Given the description of an element on the screen output the (x, y) to click on. 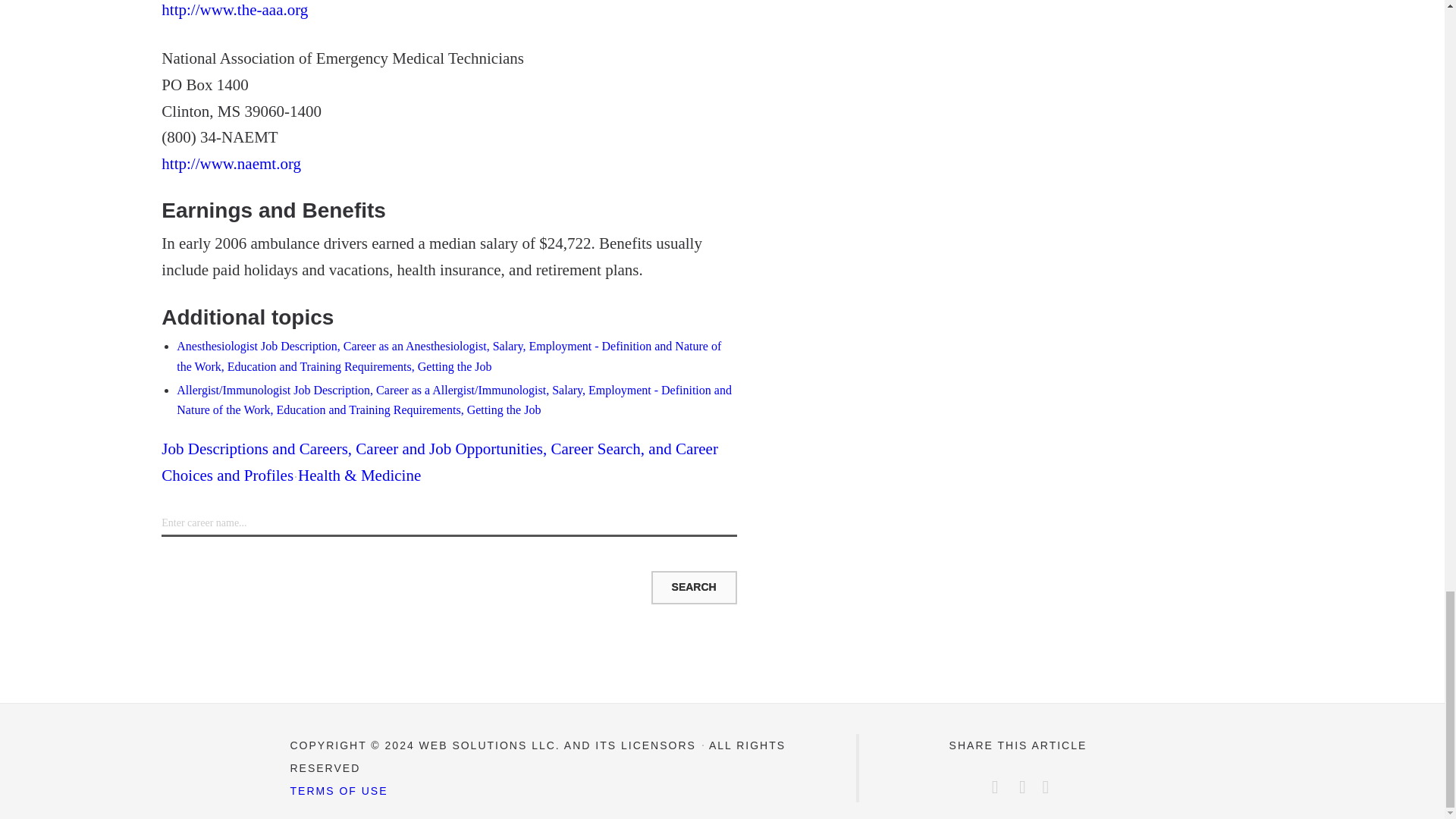
TERMS OF USE (338, 790)
Search (693, 587)
Search (693, 587)
